Given the description of an element on the screen output the (x, y) to click on. 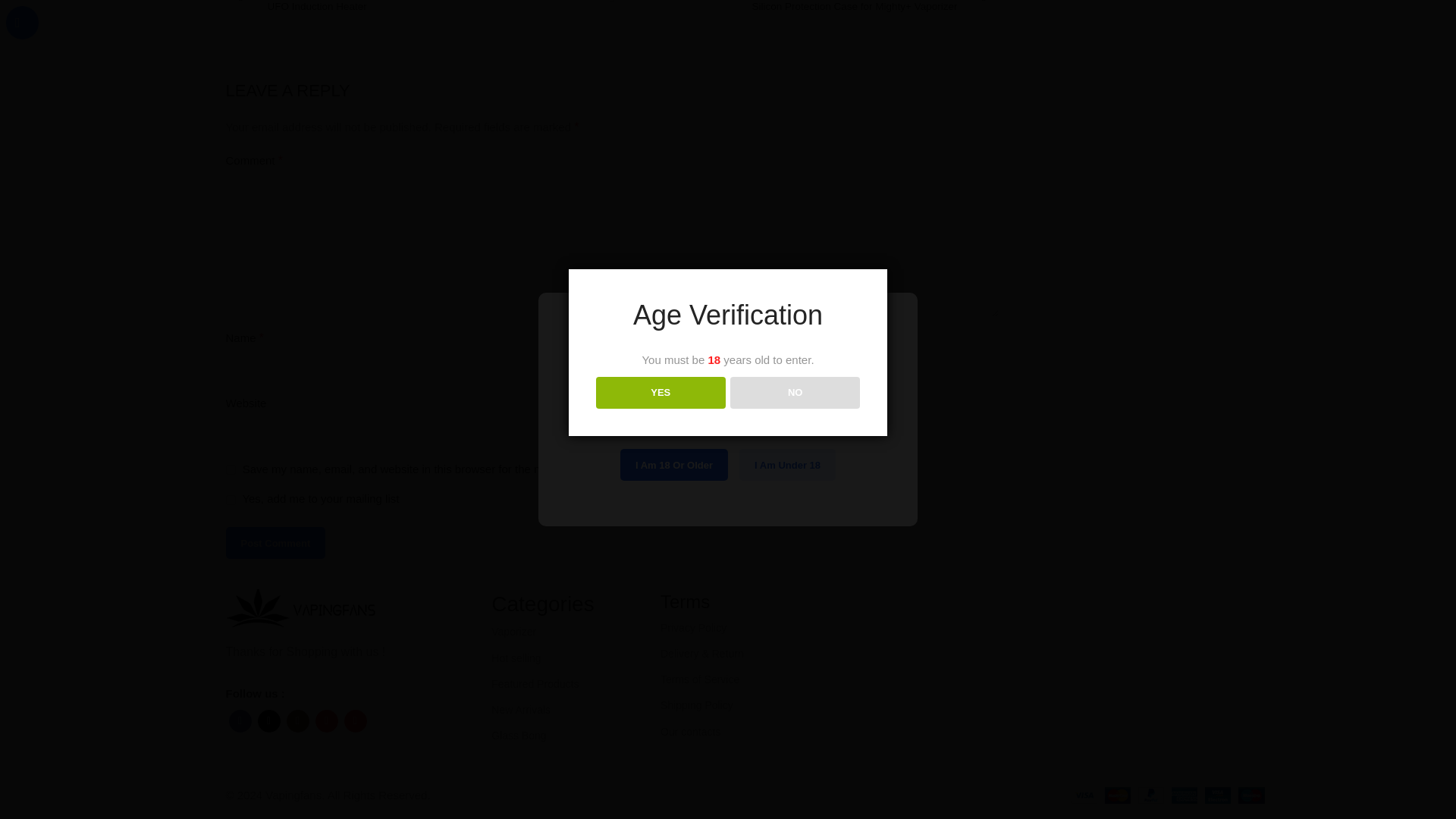
Post Comment (275, 542)
